Given the description of an element on the screen output the (x, y) to click on. 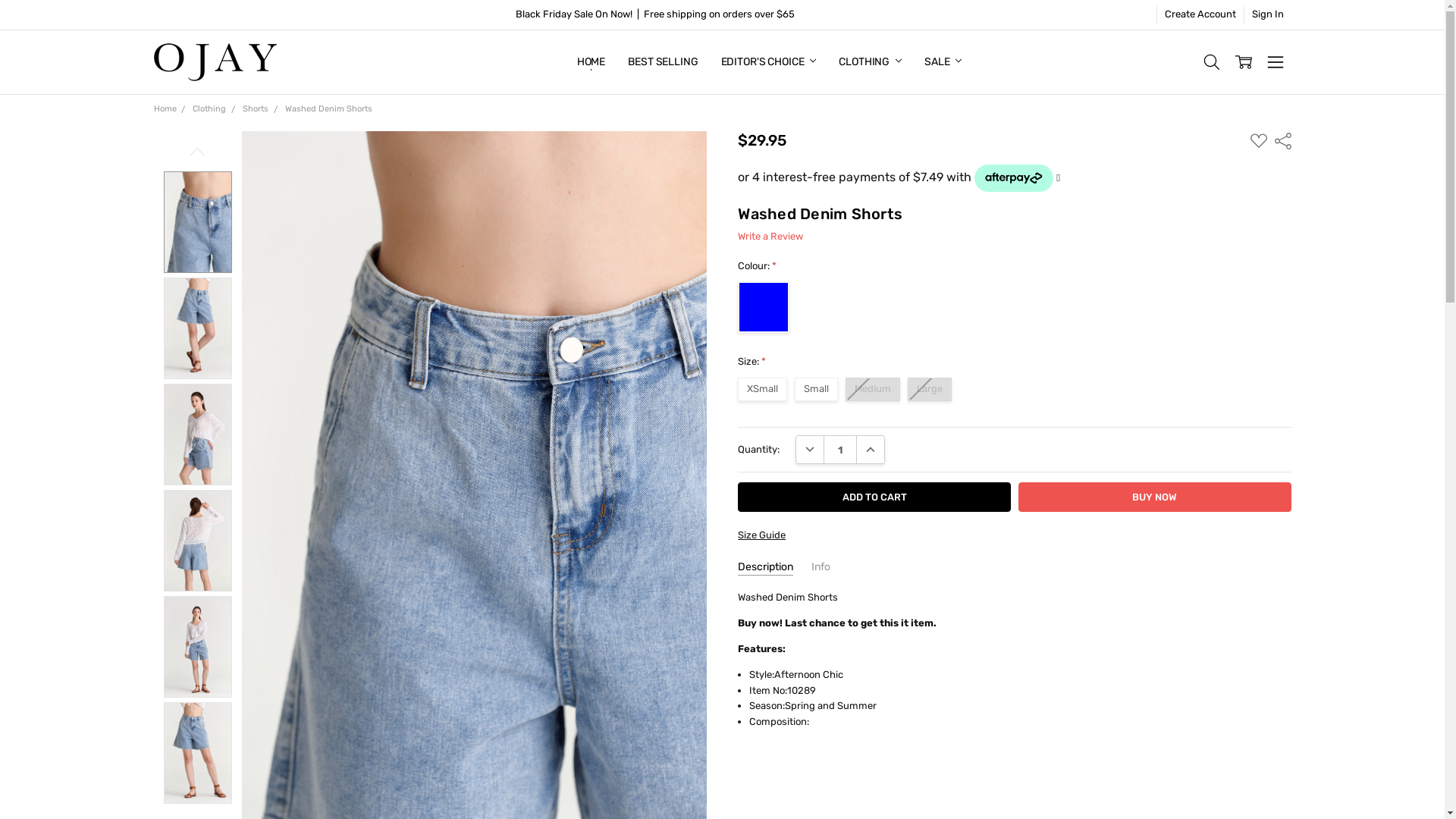
Write a Review Element type: text (770, 236)
BEST SELLING Element type: text (662, 62)
Info Element type: text (820, 567)
CLOTHING Element type: text (870, 62)
TERMS AND CONDITIONS Element type: text (637, 62)
Description Element type: text (765, 567)
Home Element type: text (164, 108)
Washed Denim Shorts Element type: hover (196, 540)
HOME Element type: text (590, 62)
CONTACT Element type: text (599, 62)
Washed Denim Shorts Element type: hover (196, 752)
Share Element type: text (1282, 139)
Previous Element type: text (197, 151)
ADD TO WISH LIST Element type: text (1258, 140)
Sign In Element type: text (1267, 14)
Buy Now Element type: text (1154, 496)
Washed Denim Shorts Element type: hover (196, 434)
ZIP - OWN IT NOW, PAY LATER Element type: text (645, 62)
Washed Denim Shorts Element type: text (328, 108)
Clothing Element type: text (208, 108)
DECREASE QUANTITY: Element type: text (809, 449)
Blue Element type: hover (763, 306)
PRIVACY POLICY Element type: text (616, 62)
Show All Element type: hover (585, 62)
SHIPPING & DELIVERY Element type: text (630, 62)
Washed Denim Shorts Element type: hover (196, 328)
Create Account Element type: text (1200, 14)
Washed Denim Shorts Element type: hover (196, 646)
ABOUT US Element type: text (601, 62)
RETURNS Element type: text (600, 62)
INCREASE QUANTITY: Element type: text (870, 449)
OJAY Element type: hover (214, 62)
EDITOR'S CHOICE Element type: text (768, 62)
SALE Element type: text (942, 62)
Size Guide Element type: text (761, 534)
Shorts Element type: text (255, 108)
SIZE GUIDE Element type: text (604, 62)
Add to Cart Element type: text (873, 496)
Washed Denim Shorts Element type: hover (196, 222)
NEWSLETTER SUBSCRIPTION Element type: text (647, 62)
